Given the description of an element on the screen output the (x, y) to click on. 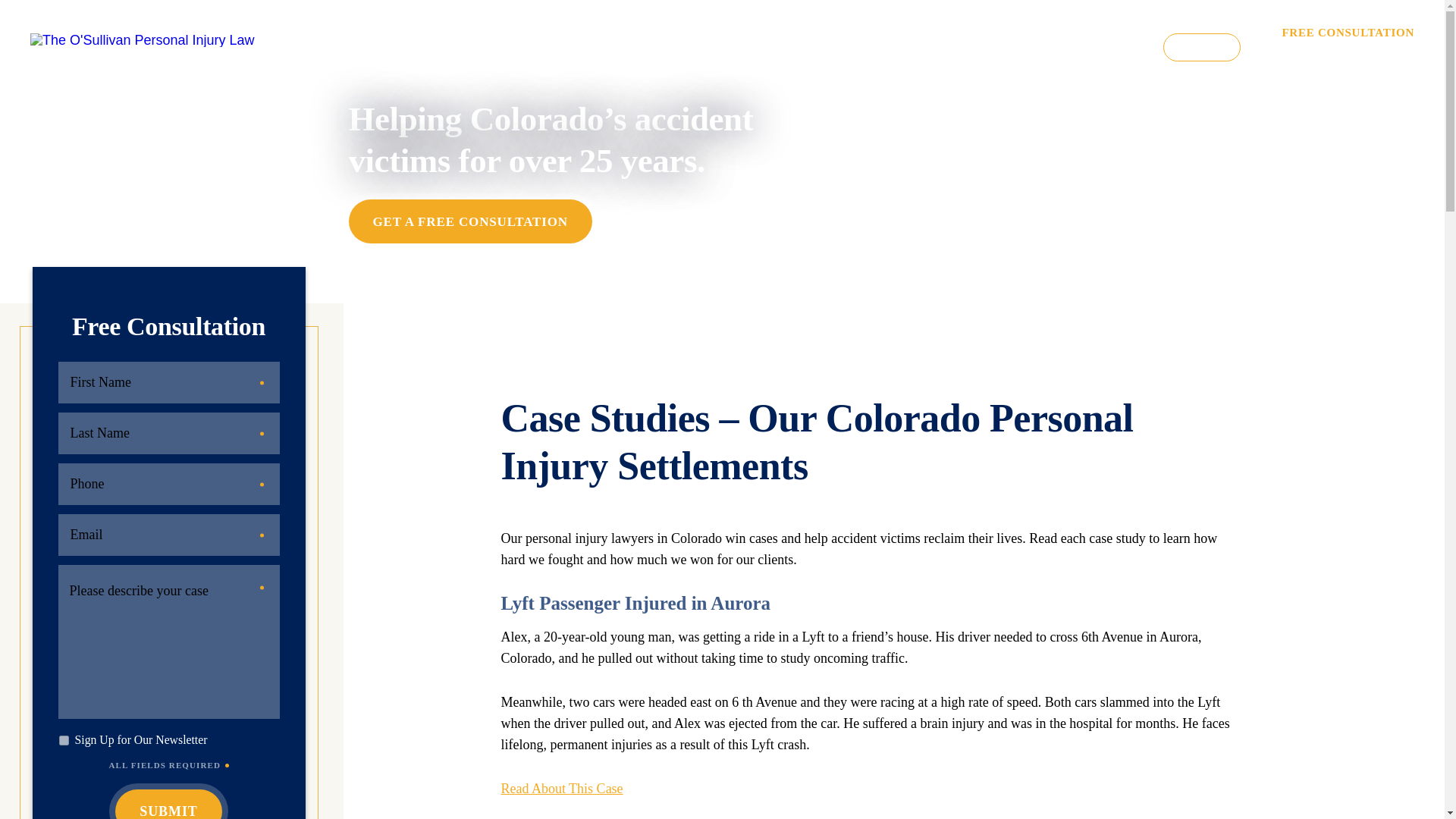
PRACTICE AREAS (650, 47)
CONTACT (1201, 47)
GET A FREE CONSULTATION (470, 221)
Submit (168, 804)
Sign Up for Our Newsletter (63, 740)
HOME (460, 47)
Read About This Case (561, 788)
TESTIMONIALS (786, 47)
RESOURCES (1002, 47)
ABOUT (534, 47)
